Given the description of an element on the screen output the (x, y) to click on. 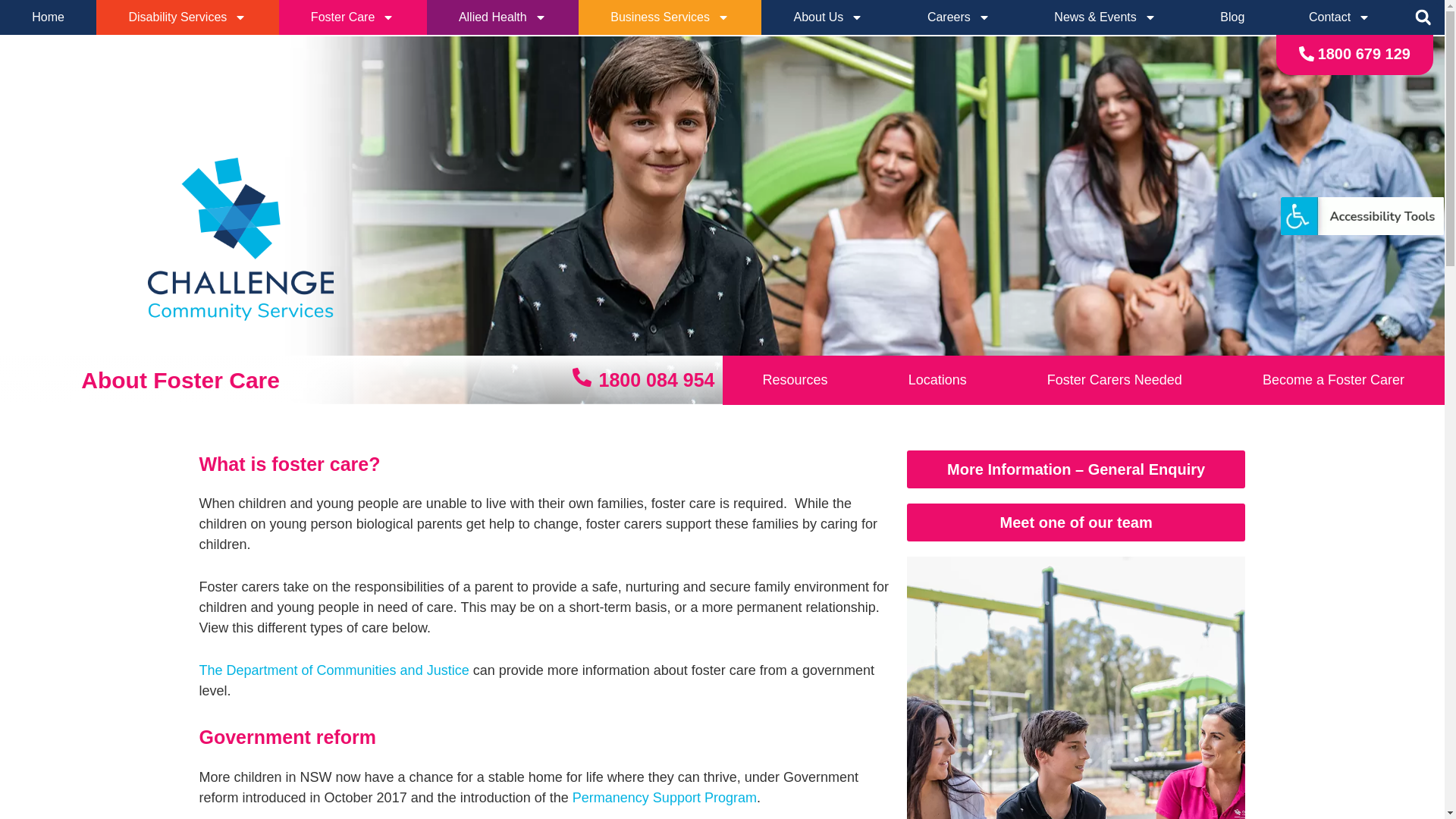
Home Element type: text (48, 17)
Careers Element type: text (958, 17)
Blog Element type: text (1232, 17)
Resources Element type: text (794, 379)
Disability Services Element type: text (187, 17)
Become a Foster Carer Element type: text (1333, 379)
News & Events Element type: text (1105, 17)
The Department of Communities and Justice Element type: text (333, 669)
1800 084 954 Element type: text (643, 380)
Business Services Element type: text (669, 17)
Locations Element type: text (937, 379)
Meet one of our team Element type: text (1075, 522)
Allied Health Element type: text (502, 17)
Contact Element type: text (1339, 17)
About Us Element type: text (827, 17)
Foster Care Element type: text (352, 17)
Foster Carers Needed Element type: text (1114, 379)
Permanency Support Program Element type: text (664, 797)
1800 679 129 Element type: text (1354, 54)
